Given the description of an element on the screen output the (x, y) to click on. 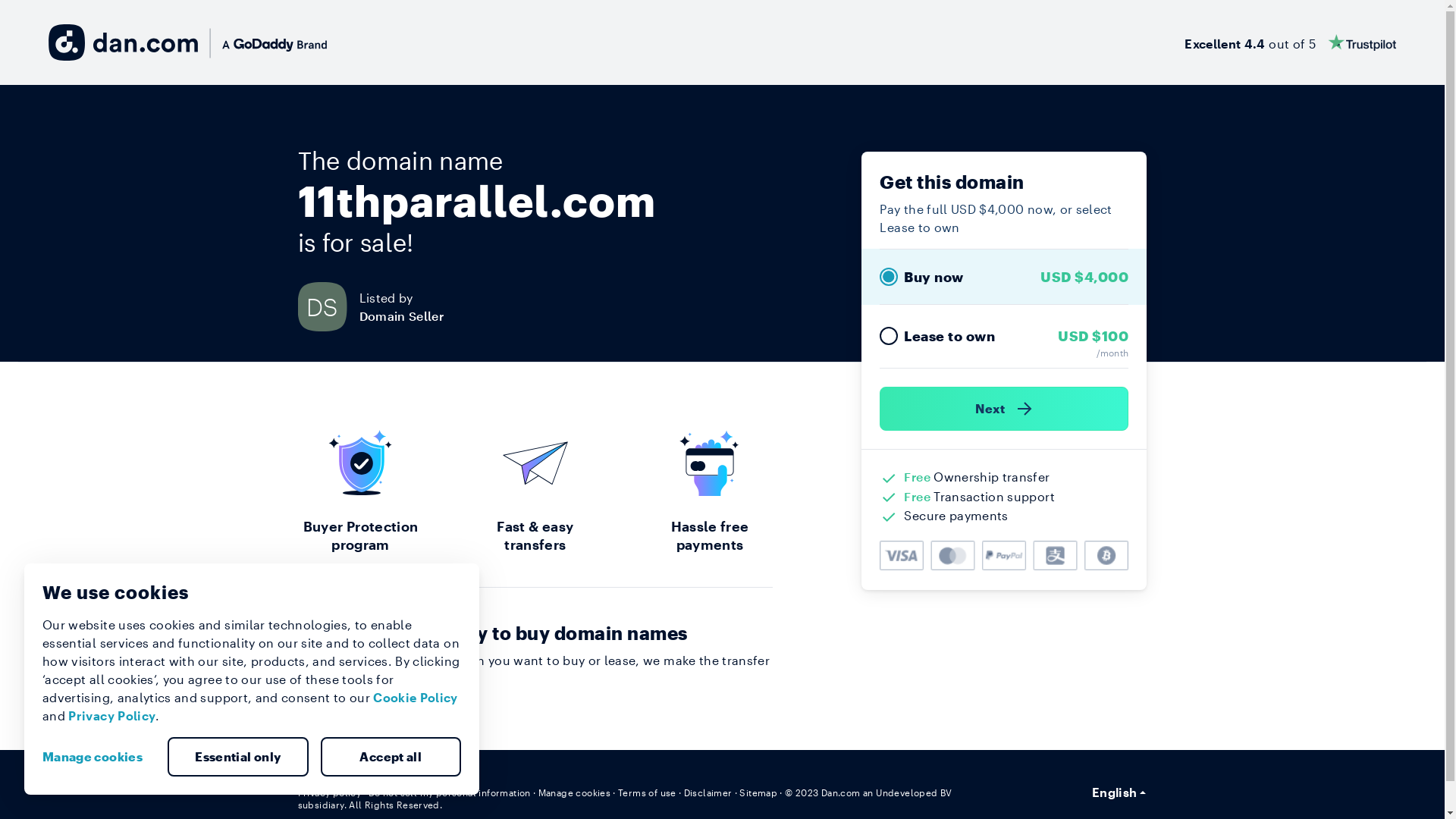
Privacy policy Element type: text (328, 792)
English Element type: text (1119, 792)
Sitemap Element type: text (758, 792)
Excellent 4.4 out of 5 Element type: text (1290, 42)
Privacy Policy Element type: text (111, 715)
Manage cookies Element type: text (98, 756)
Manage cookies Element type: text (574, 792)
Accept all Element type: text (390, 756)
Next
) Element type: text (1003, 408)
Disclaimer Element type: text (708, 792)
Cookie Policy Element type: text (415, 697)
Essential only Element type: text (237, 756)
Terms of use Element type: text (647, 792)
Do not sell my personal information Element type: text (449, 792)
